Given the description of an element on the screen output the (x, y) to click on. 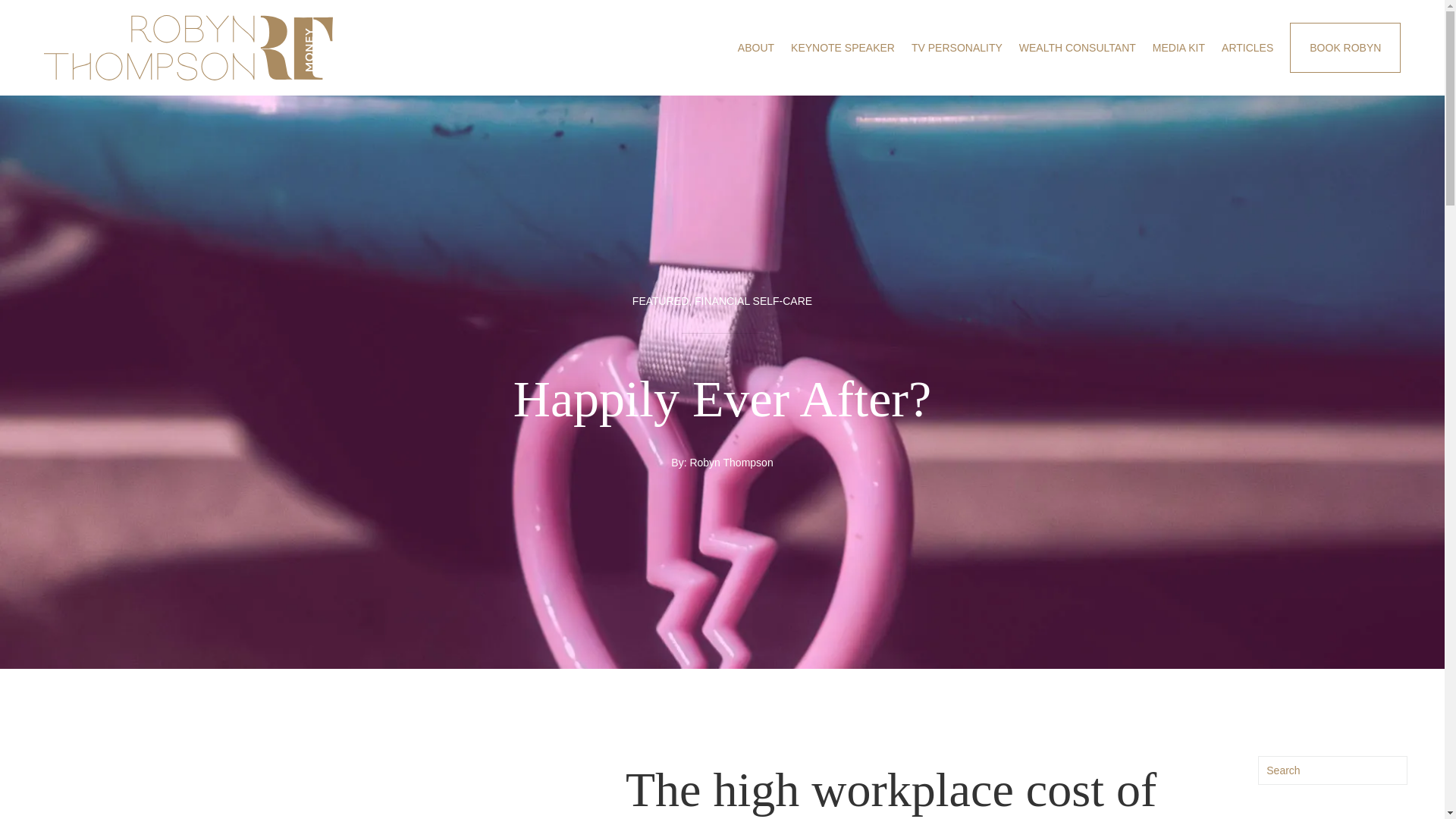
TV PERSONALITY (957, 47)
FEATURED (659, 300)
BOOK ROBYN (1345, 47)
ARTICLES (1246, 47)
MEDIA KIT (1179, 47)
ABOUT (756, 47)
FINANCIAL SELF-CARE (753, 300)
KEYNOTE SPEAKER (842, 47)
WEALTH CONSULTANT (1077, 47)
